Given the description of an element on the screen output the (x, y) to click on. 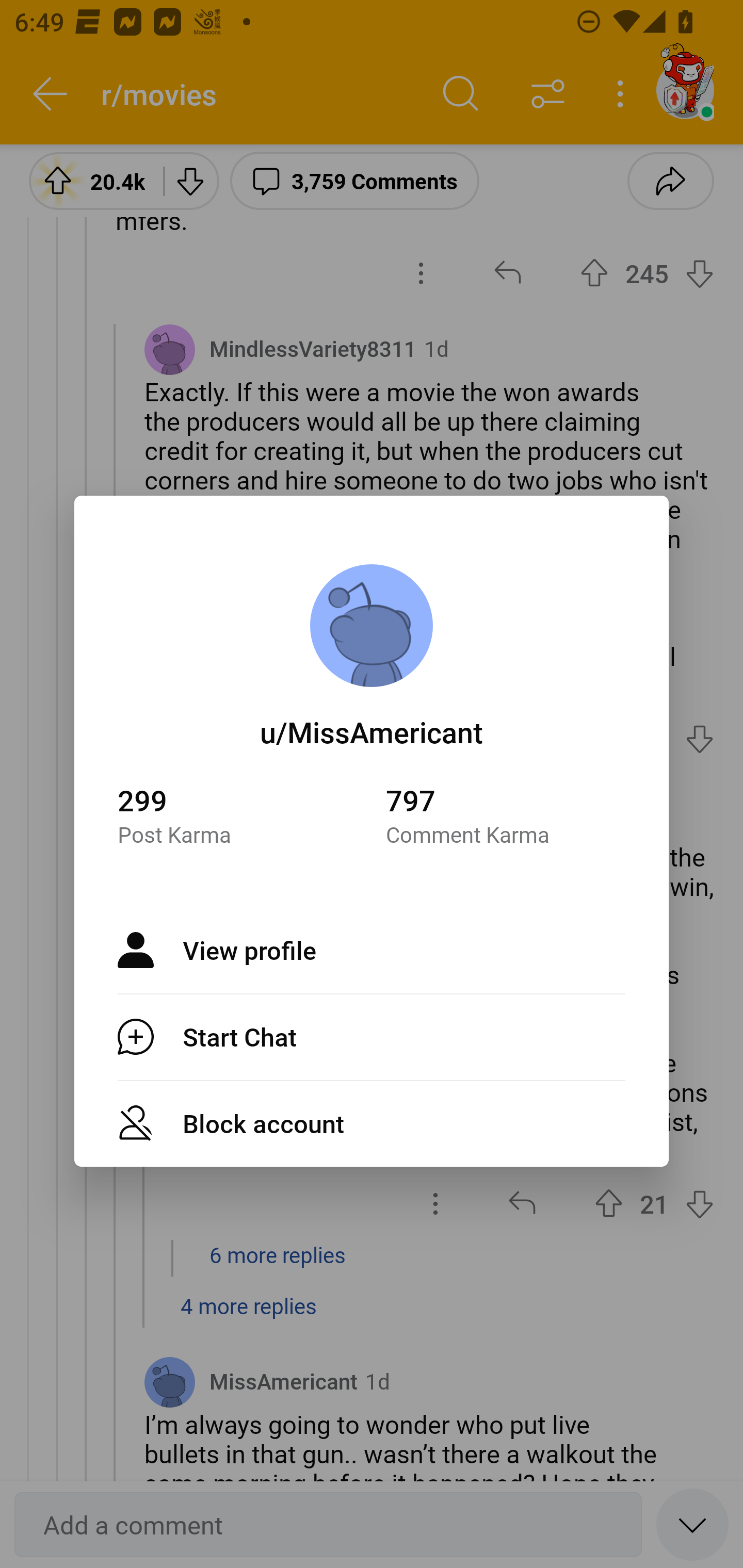
u/MissAmericant (371, 731)
View profile (371, 950)
Start Chat (371, 1037)
Block account (371, 1123)
